Given the description of an element on the screen output the (x, y) to click on. 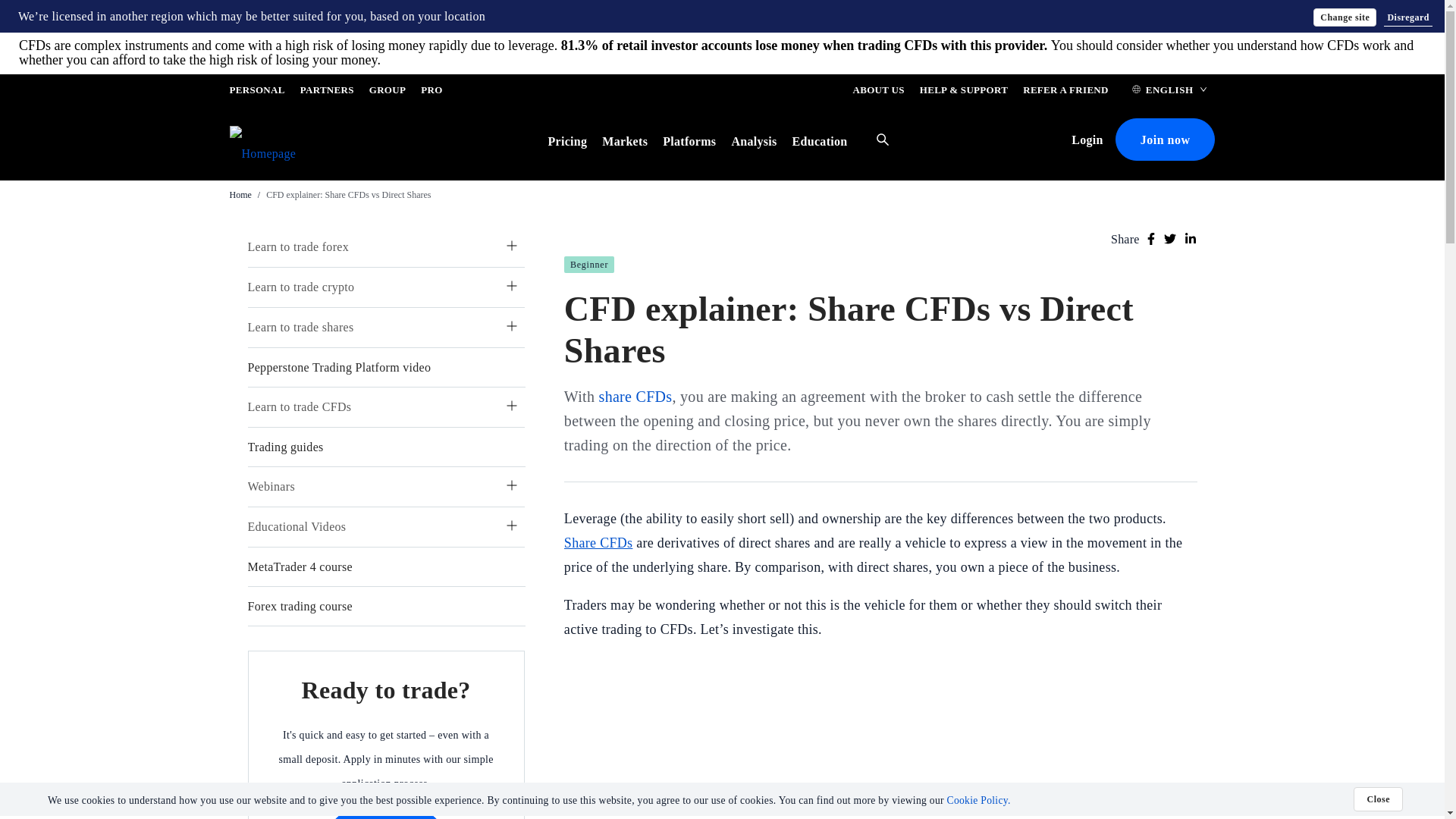
Learn to trade shares (300, 327)
PARTNERS (326, 92)
Markets (624, 141)
Platforms (689, 141)
GROUP (387, 92)
MetaTrader 4 course (299, 566)
share CFDs (635, 396)
Analysis (753, 141)
ENGLISH (1169, 92)
Learn to trade forex (297, 246)
